Given the description of an element on the screen output the (x, y) to click on. 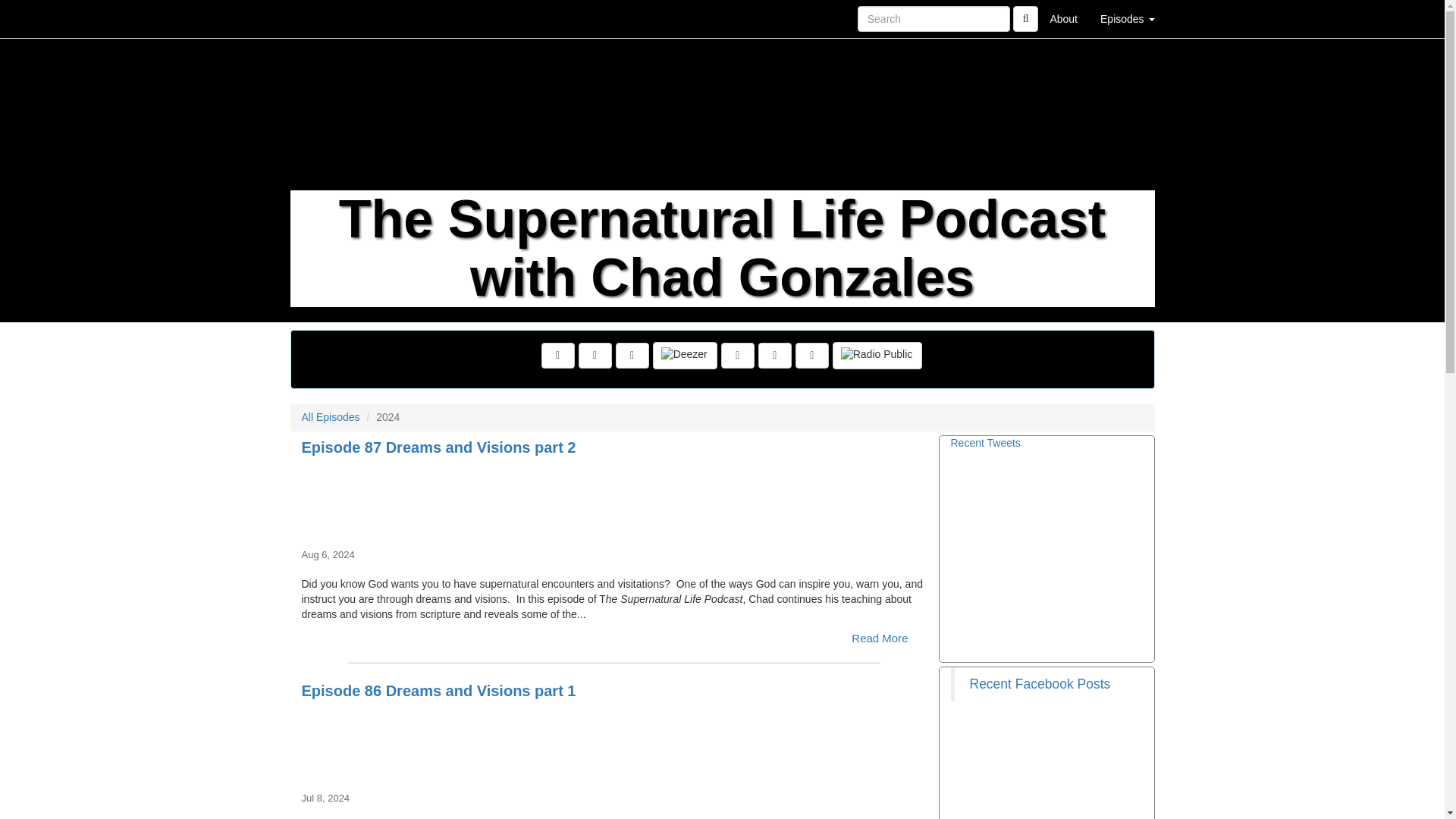
Listen on Deezer (684, 355)
Episode 86 Dreams and Visions part 1 (614, 736)
Listen on Spotify (775, 355)
Visit Us on Twitter (594, 355)
Visit Us on Facebook (558, 355)
Subscribe to RSS Feed (632, 355)
Listen on Radio Public (877, 355)
Episode 87 Dreams and Visions part 2 (614, 493)
About (1063, 18)
Home Page (320, 18)
